Given the description of an element on the screen output the (x, y) to click on. 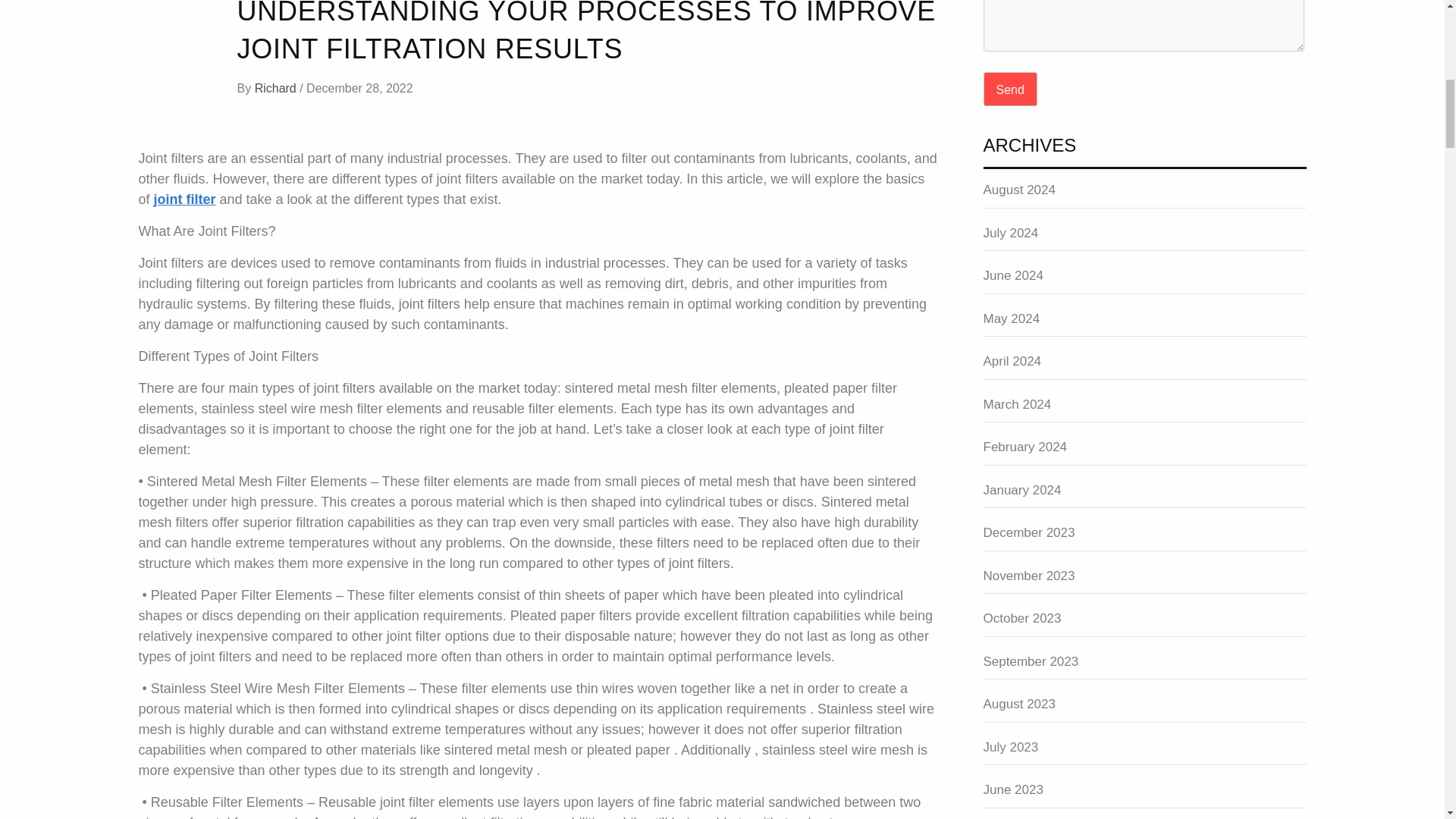
February 2024 (1144, 451)
August 2024 (1144, 194)
June 2024 (1144, 280)
joint filter (184, 199)
Send (1009, 89)
March 2024 (1144, 408)
April 2024 (1144, 366)
May 2024 (1144, 323)
Send (1009, 89)
July 2024 (1144, 237)
